Given the description of an element on the screen output the (x, y) to click on. 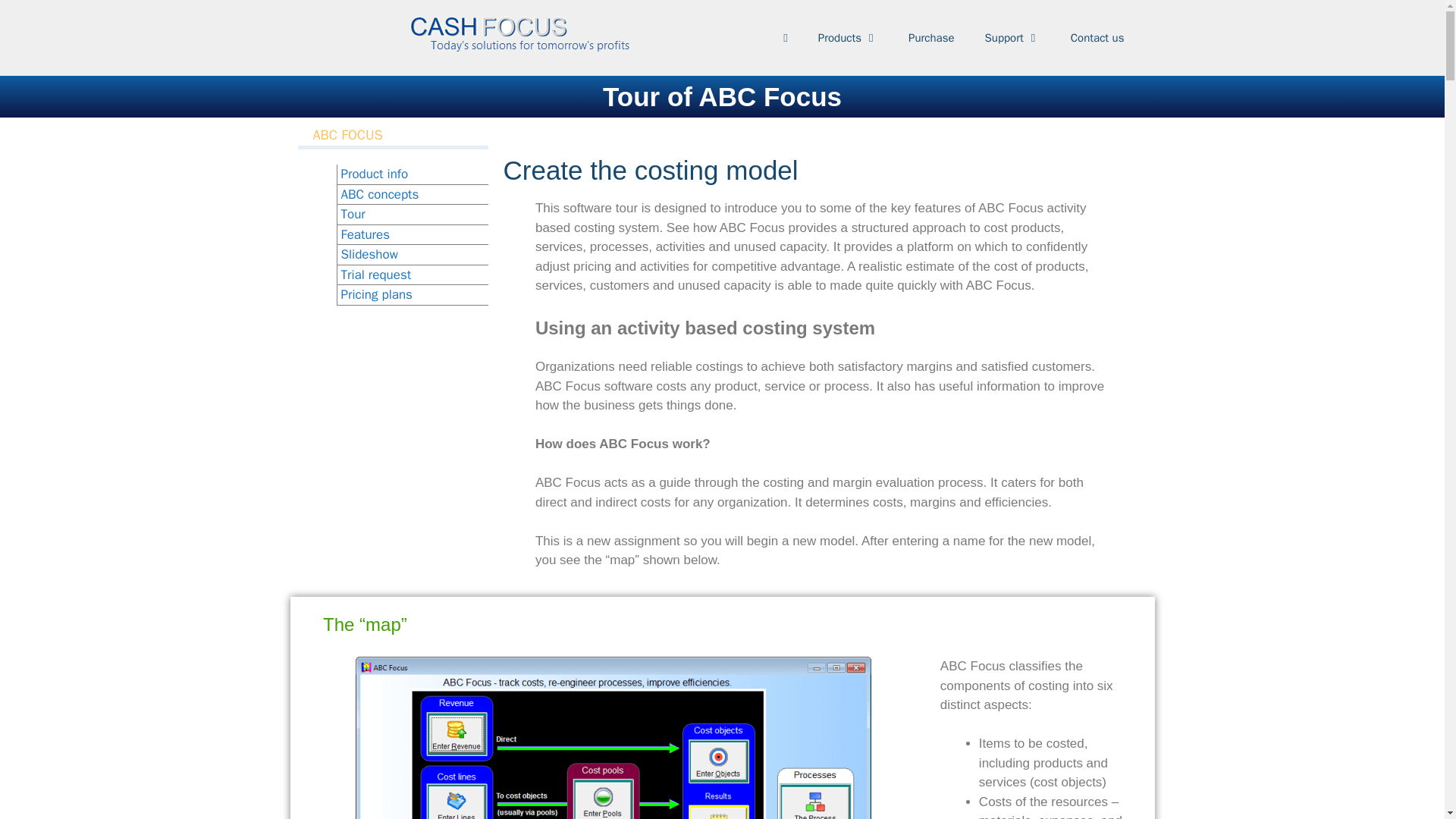
Contact us (1097, 37)
Features (365, 233)
Support (1012, 37)
Product info (374, 173)
Slideshow (368, 254)
Trial request (376, 274)
Pricing plans (376, 294)
Tour (352, 213)
Purchase (931, 37)
ABC concepts (379, 194)
